Given the description of an element on the screen output the (x, y) to click on. 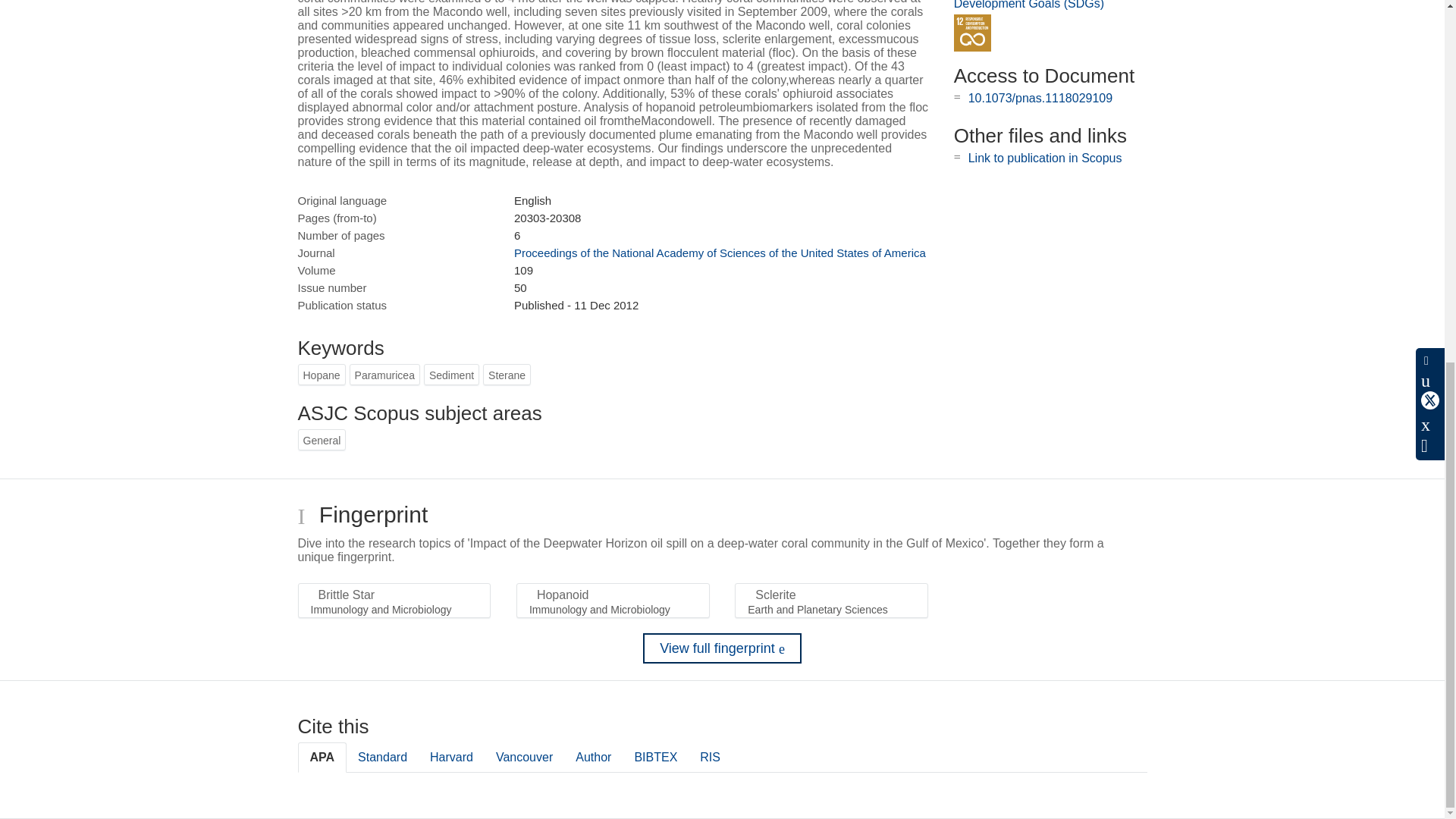
View full fingerprint (722, 648)
Link to publication in Scopus (1045, 157)
SDG 12 - Responsible Consumption and Production (972, 32)
